Given the description of an element on the screen output the (x, y) to click on. 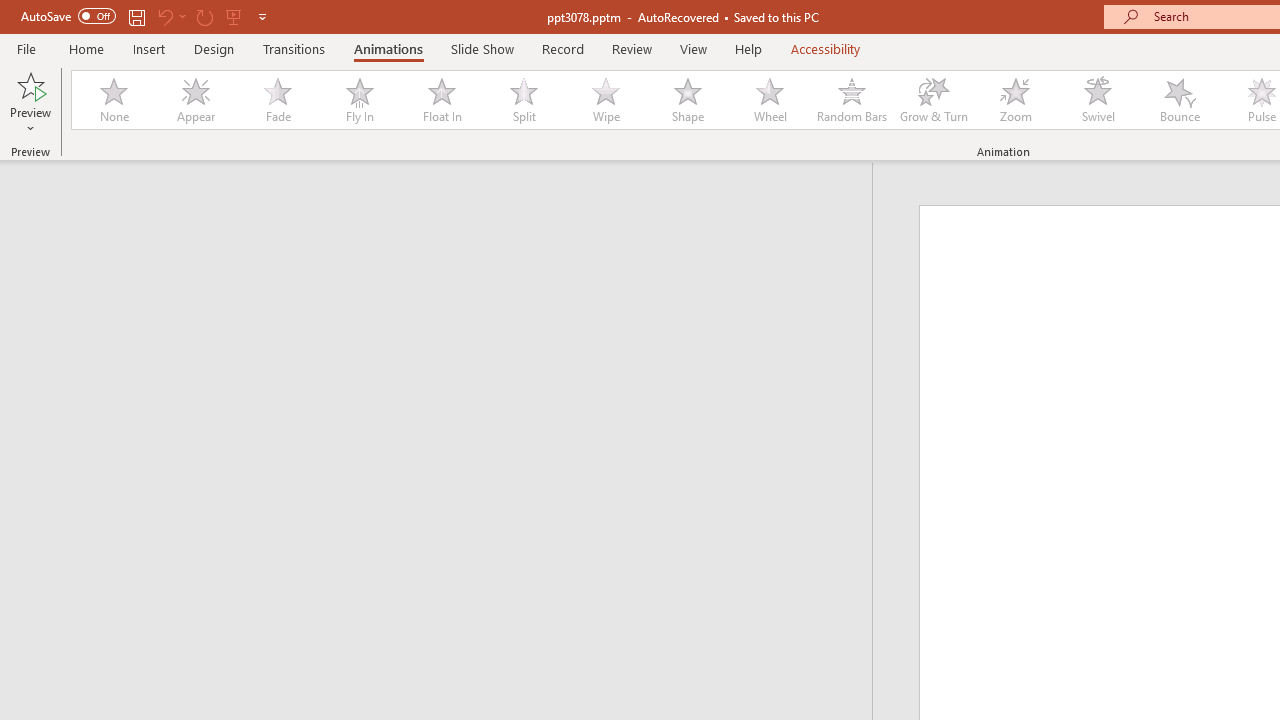
Wipe (605, 100)
Grow & Turn (934, 100)
Random Bars (852, 100)
Fly In (359, 100)
Fade (277, 100)
Split (523, 100)
Shape (687, 100)
